Given the description of an element on the screen output the (x, y) to click on. 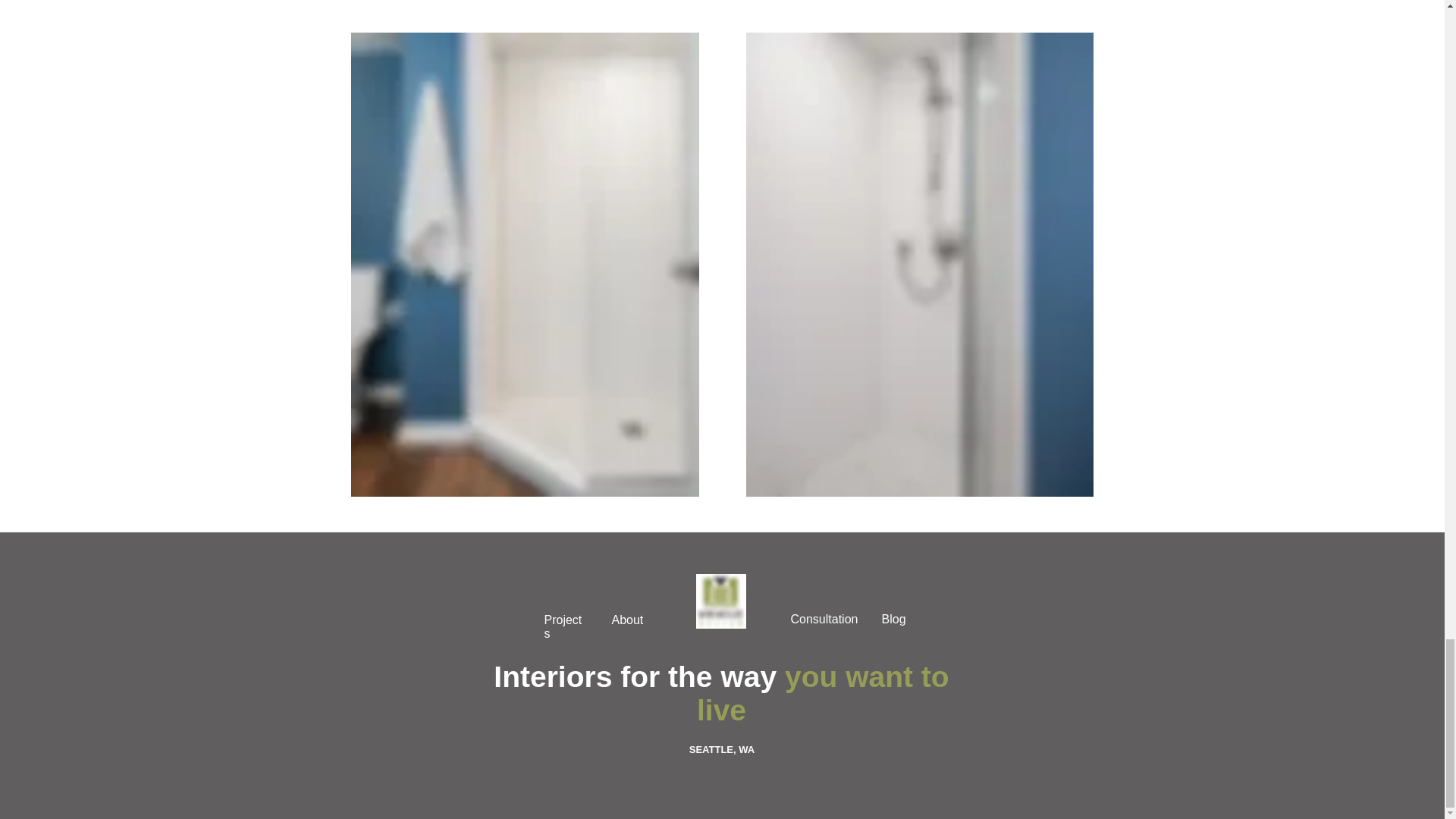
Blog (892, 618)
Consultation (823, 618)
want (878, 676)
Projects (563, 626)
About (627, 619)
SEATTLE, WA (721, 749)
you (814, 676)
Interiors for the way (638, 676)
to live (823, 693)
